Given the description of an element on the screen output the (x, y) to click on. 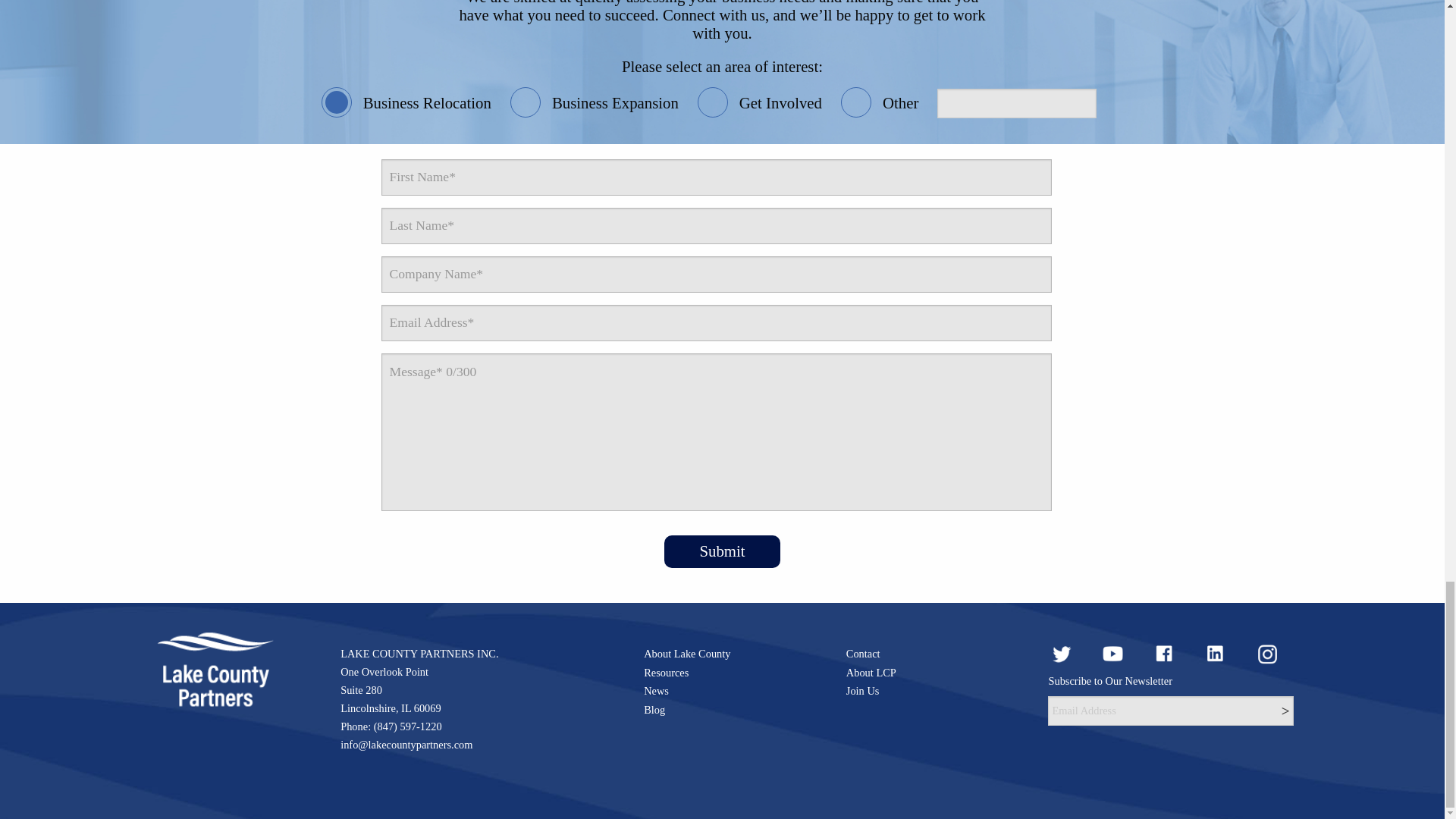
Submit (720, 551)
